Given the description of an element on the screen output the (x, y) to click on. 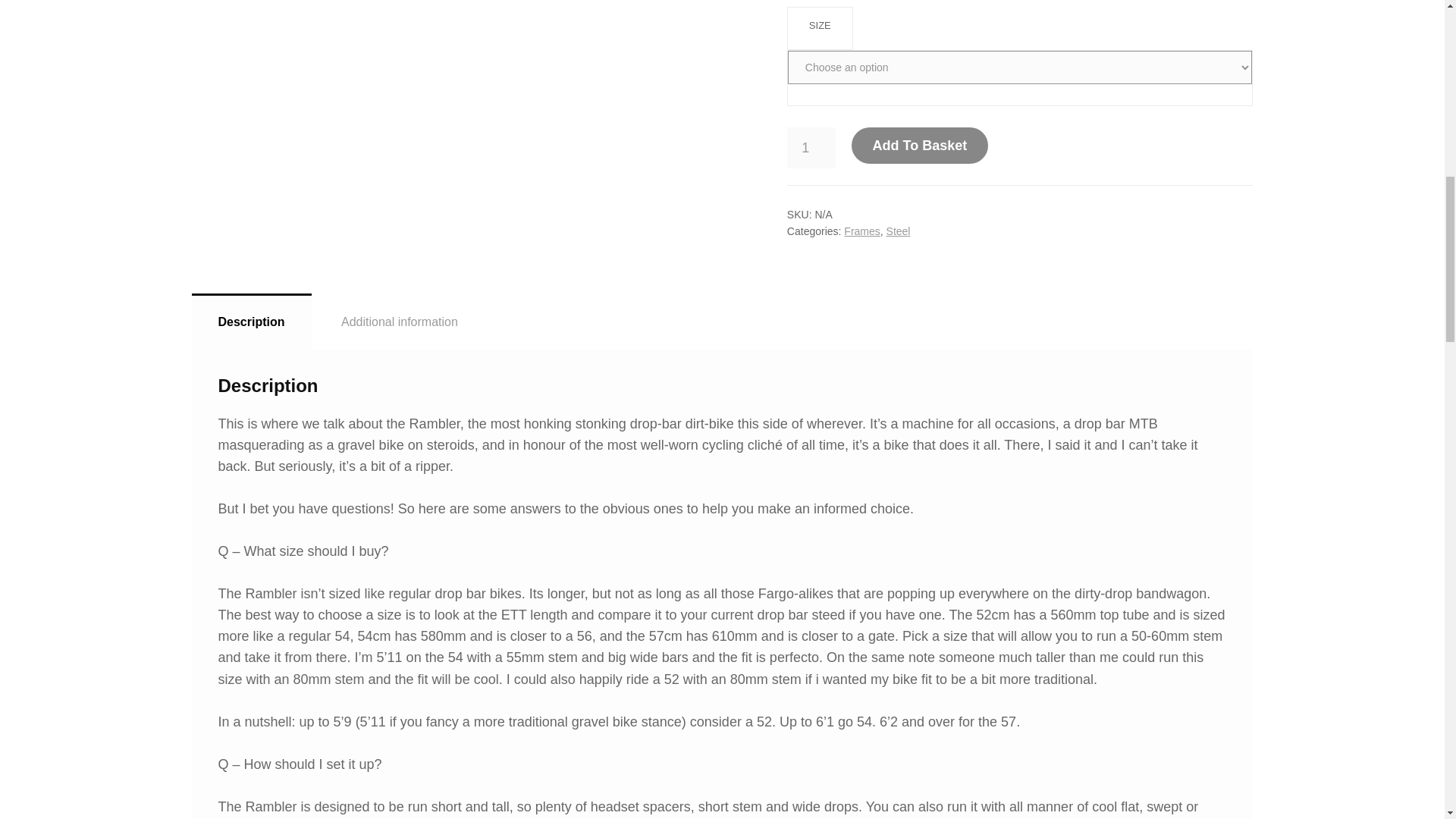
Steel (898, 231)
Frames (861, 231)
1 (811, 147)
Description (250, 320)
Add To Basket (919, 145)
Additional information (399, 321)
